Given the description of an element on the screen output the (x, y) to click on. 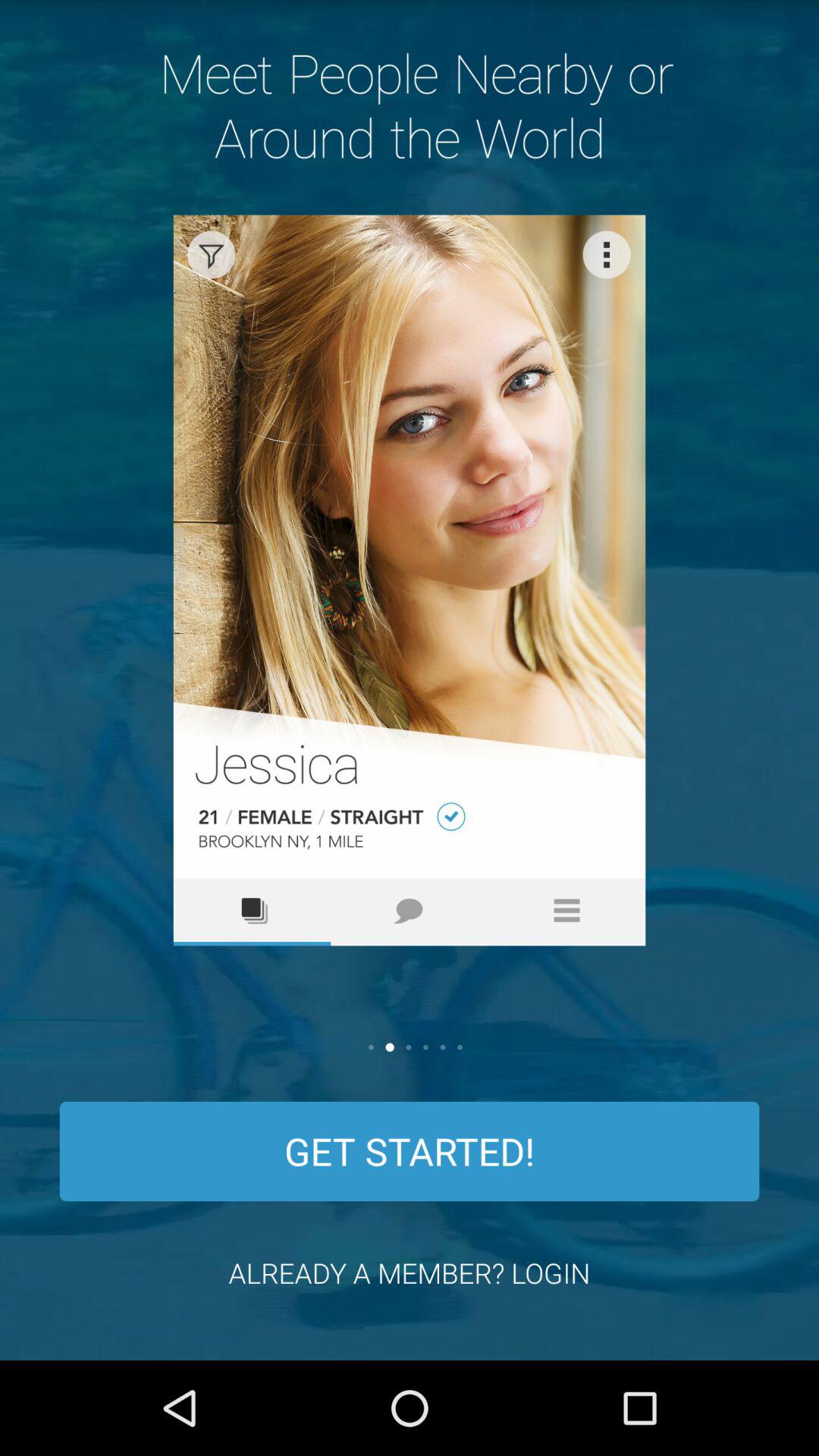
choose the button above already a member icon (409, 1151)
